Given the description of an element on the screen output the (x, y) to click on. 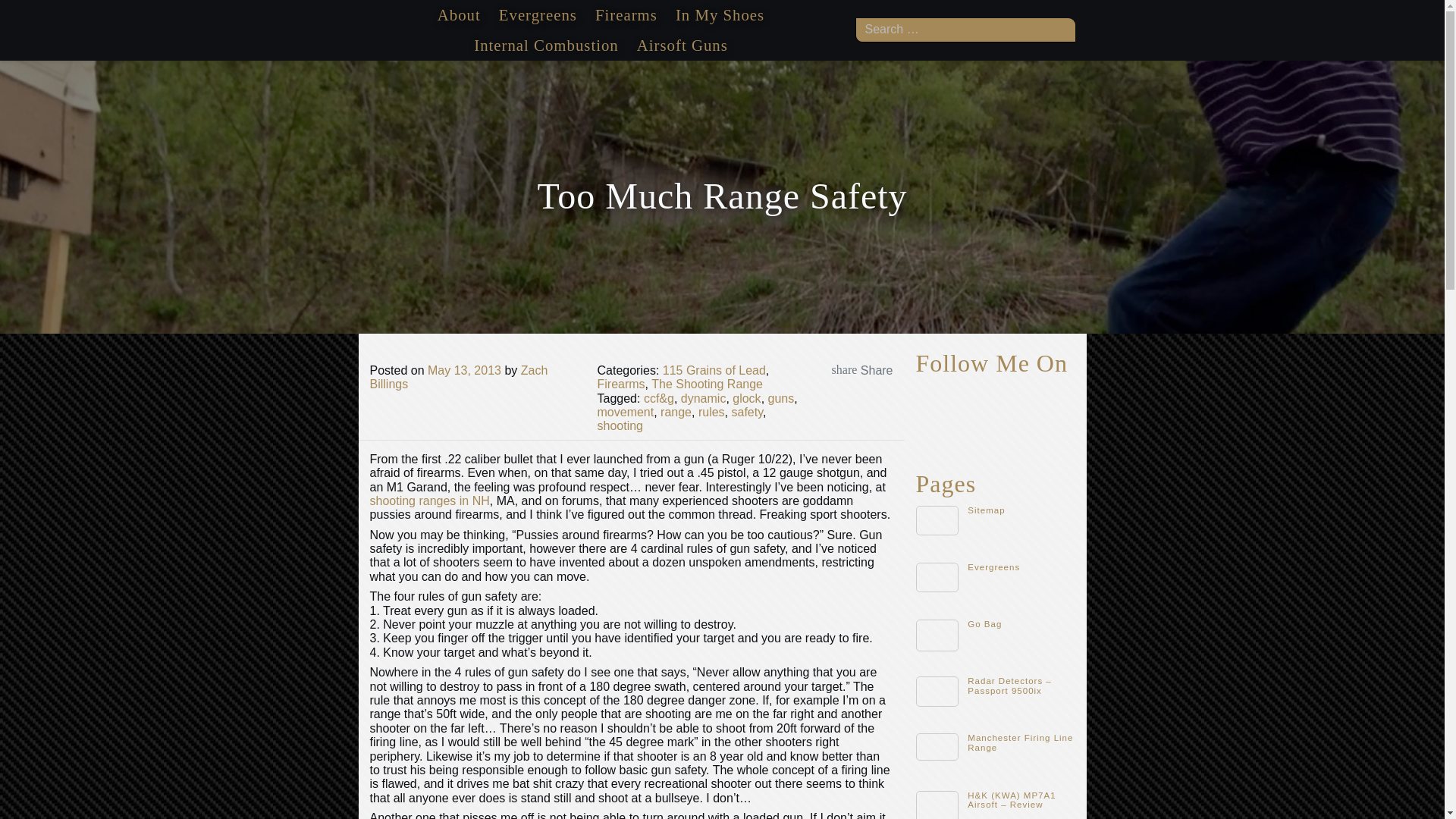
movement (624, 411)
The Shooting Range (706, 383)
Evergreens (537, 14)
Internal Combustion (546, 44)
dynamic (703, 398)
May 13, 2013 (464, 369)
shooting (619, 425)
Sitemap (986, 510)
shooting ranges in nh (429, 500)
In My Shoes (719, 14)
